Given the description of an element on the screen output the (x, y) to click on. 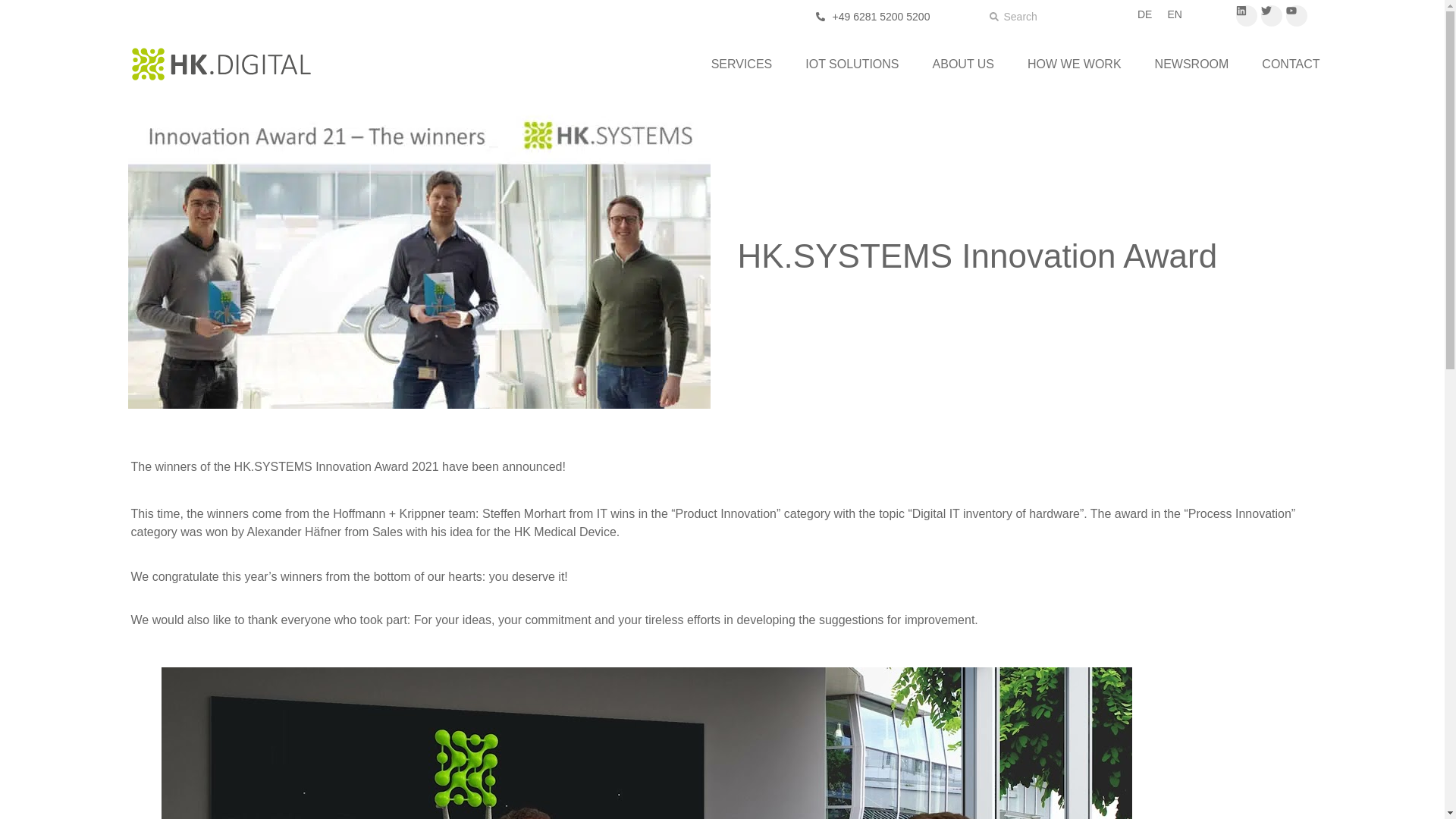
DE (1143, 14)
SERVICES (741, 63)
IOT SOLUTIONS (851, 63)
HOW WE WORK (1074, 63)
ABOUT US (963, 63)
NEWSROOM (1192, 63)
CONTACT (1289, 63)
EN (1173, 14)
